Given the description of an element on the screen output the (x, y) to click on. 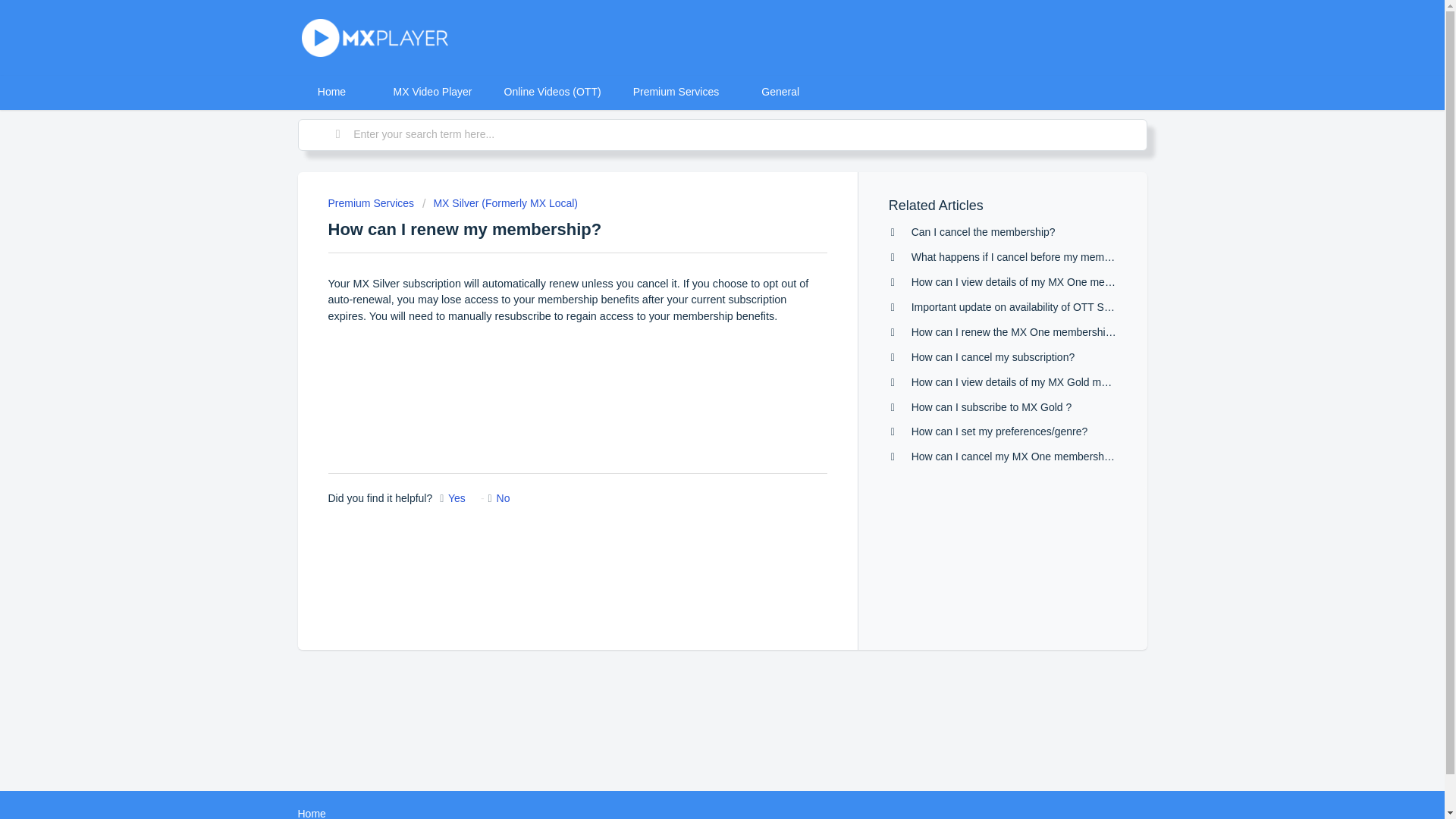
How can I view details of my MX One membership? (1032, 282)
Premium Services (675, 91)
Premium Services (370, 203)
How can I renew the MX One membership ? (1015, 331)
How can I cancel my MX One membership ? (1016, 456)
Can I cancel the membership? (983, 232)
How can I view details of my MX Gold membership ? (1035, 381)
Home (310, 813)
How can I cancel my subscription? (993, 357)
